Given the description of an element on the screen output the (x, y) to click on. 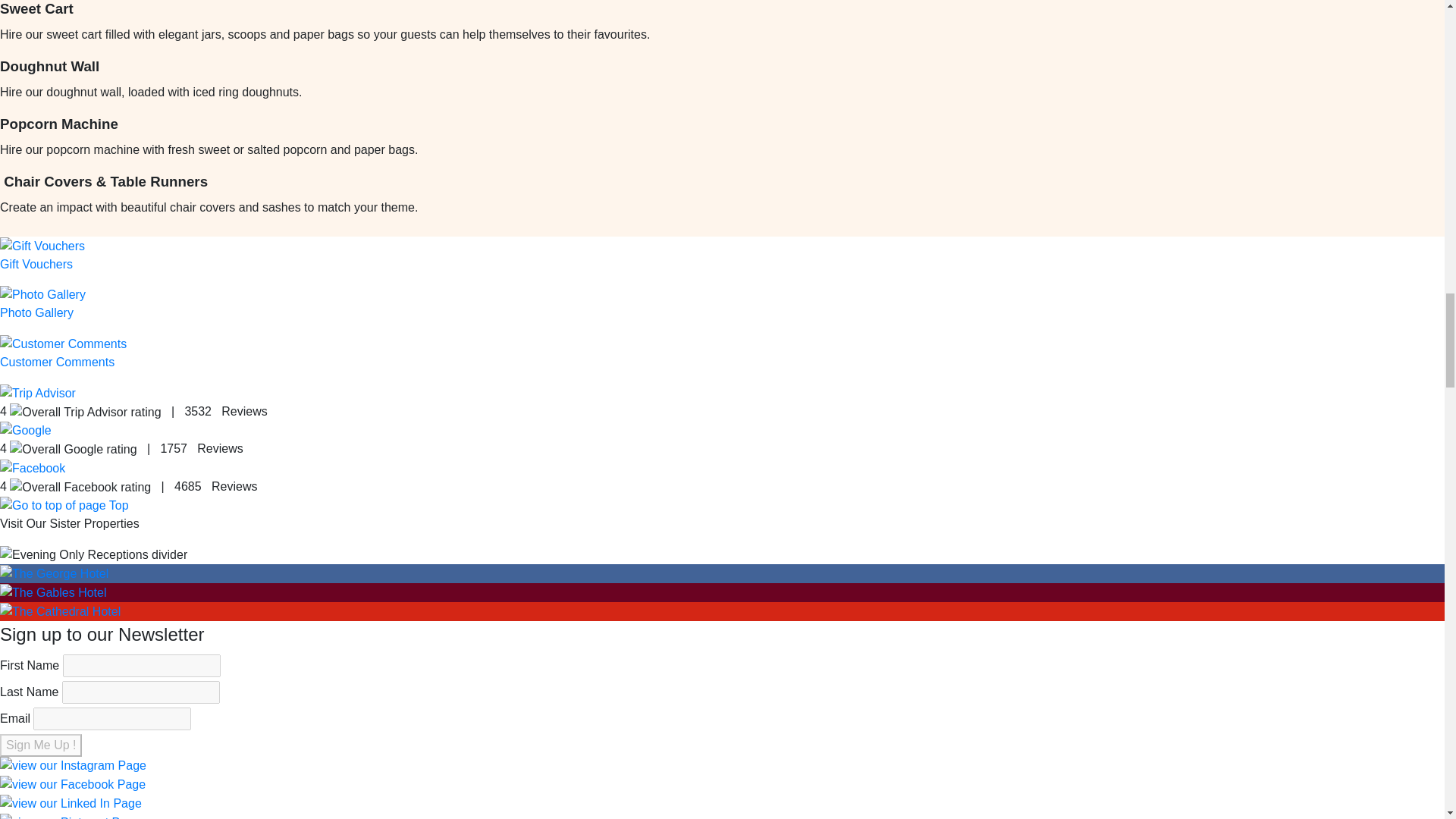
Photo Gallery (37, 312)
Customer Comments (63, 343)
Sign Me Up ! (40, 744)
Gift Vouchers (36, 264)
Gift  Vouchers (42, 246)
Photo Gallery (42, 294)
Customer Comments (57, 361)
Top (64, 504)
